Given the description of an element on the screen output the (x, y) to click on. 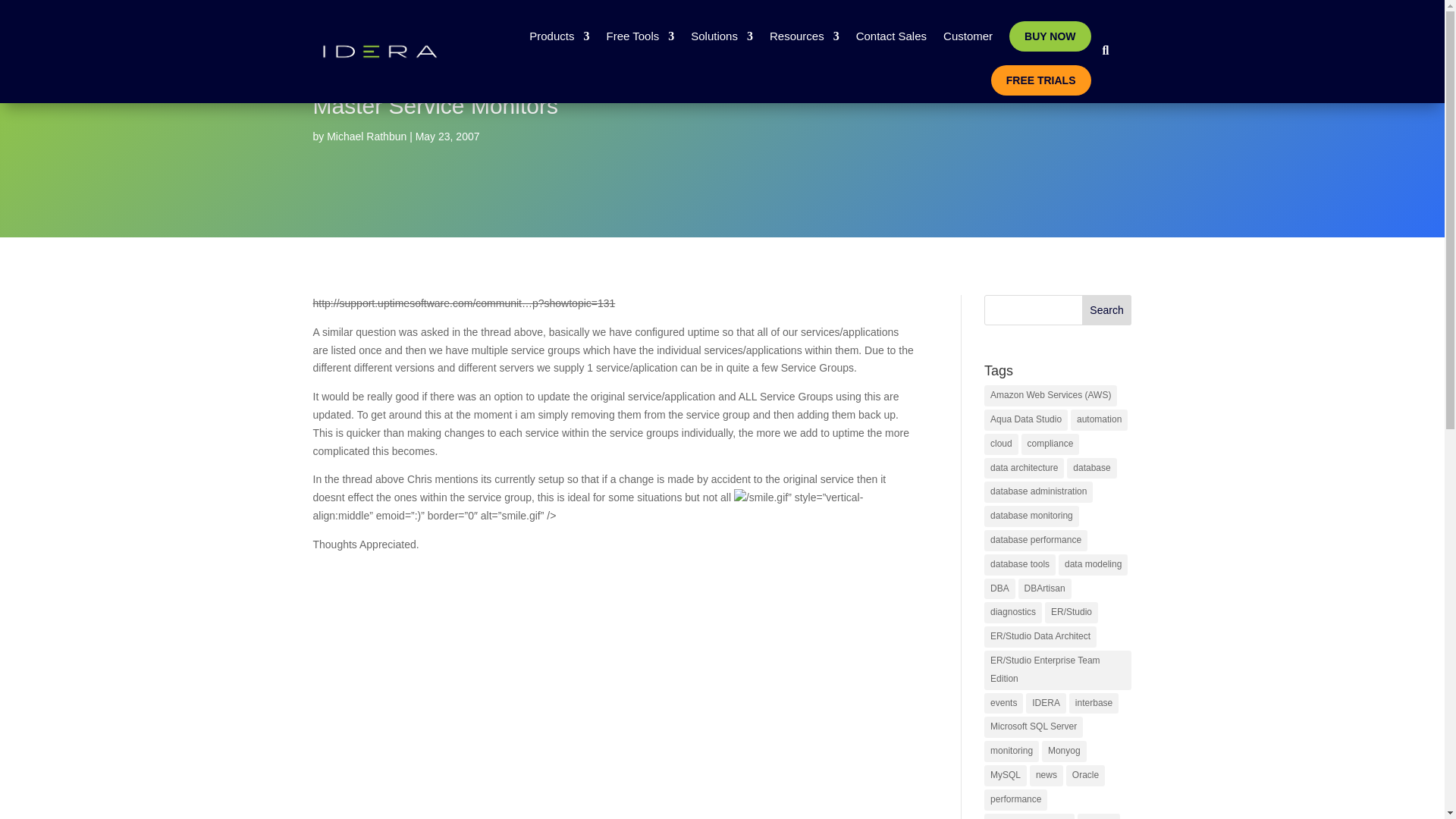
Products (559, 36)
Search (1106, 309)
Posts by Michael Rathbun (366, 136)
Solutions (721, 36)
Free Tools (639, 36)
